Given the description of an element on the screen output the (x, y) to click on. 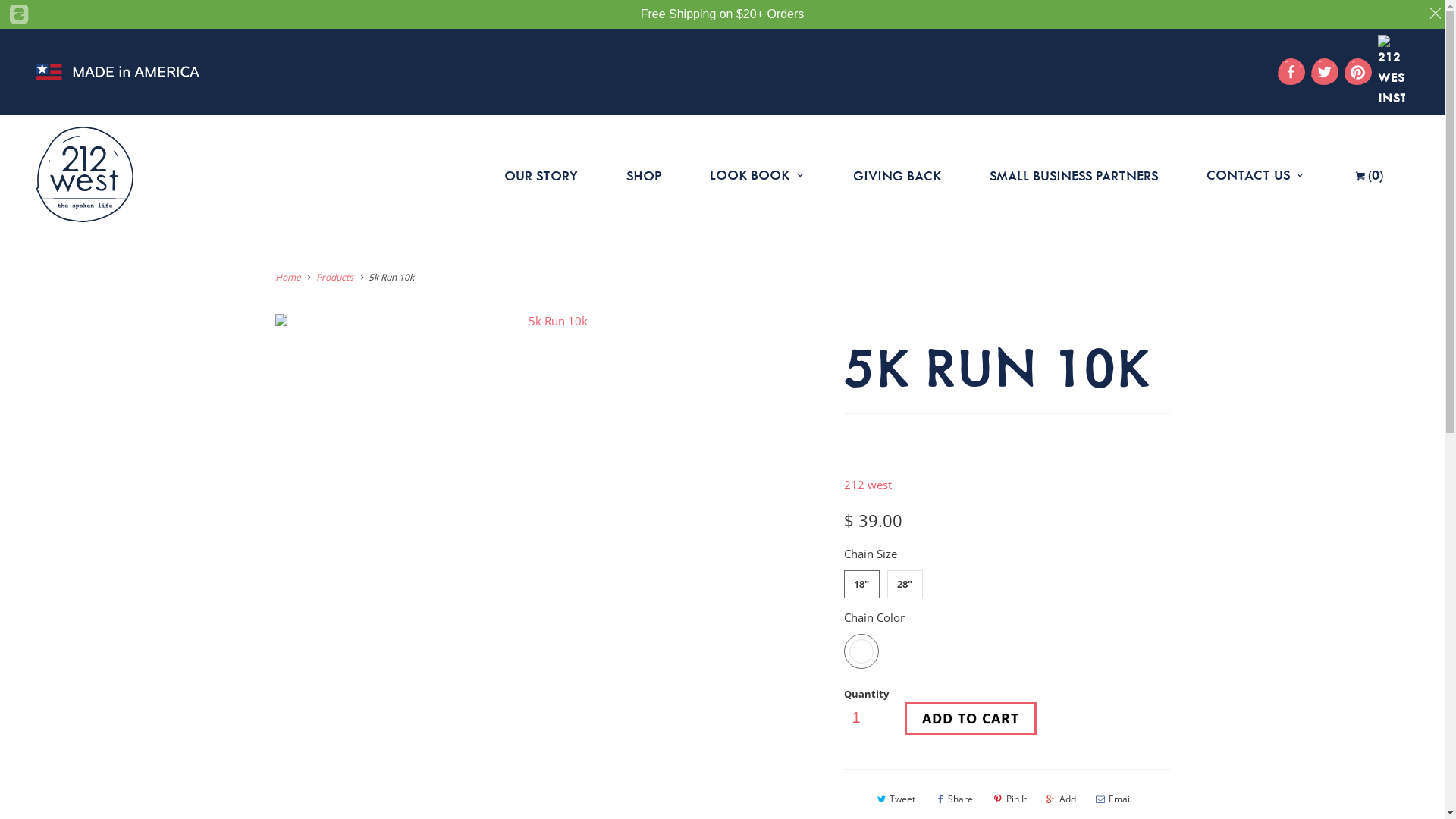
Email Element type: text (1112, 799)
212 west Element type: text (867, 484)
GIVING BACK Element type: text (897, 174)
SMALL BUSINESS PARTNERS Element type: text (1073, 174)
CONTACT US Element type: text (1255, 173)
Home Element type: text (287, 276)
Pin It Element type: text (1008, 799)
212 west Element type: hover (84, 174)
Add Element type: text (1060, 799)
Share Element type: text (952, 799)
5k Run 10k Element type: hover (551, 320)
ADD TO CART Element type: text (969, 718)
Products Element type: text (334, 276)
SHOP Element type: text (643, 174)
OUR STORY Element type: text (540, 174)
Tweet Element type: text (894, 799)
Zotabox Element type: hover (14, 14)
LOOK BOOK Element type: text (756, 173)
(0) Element type: text (1368, 173)
